Given the description of an element on the screen output the (x, y) to click on. 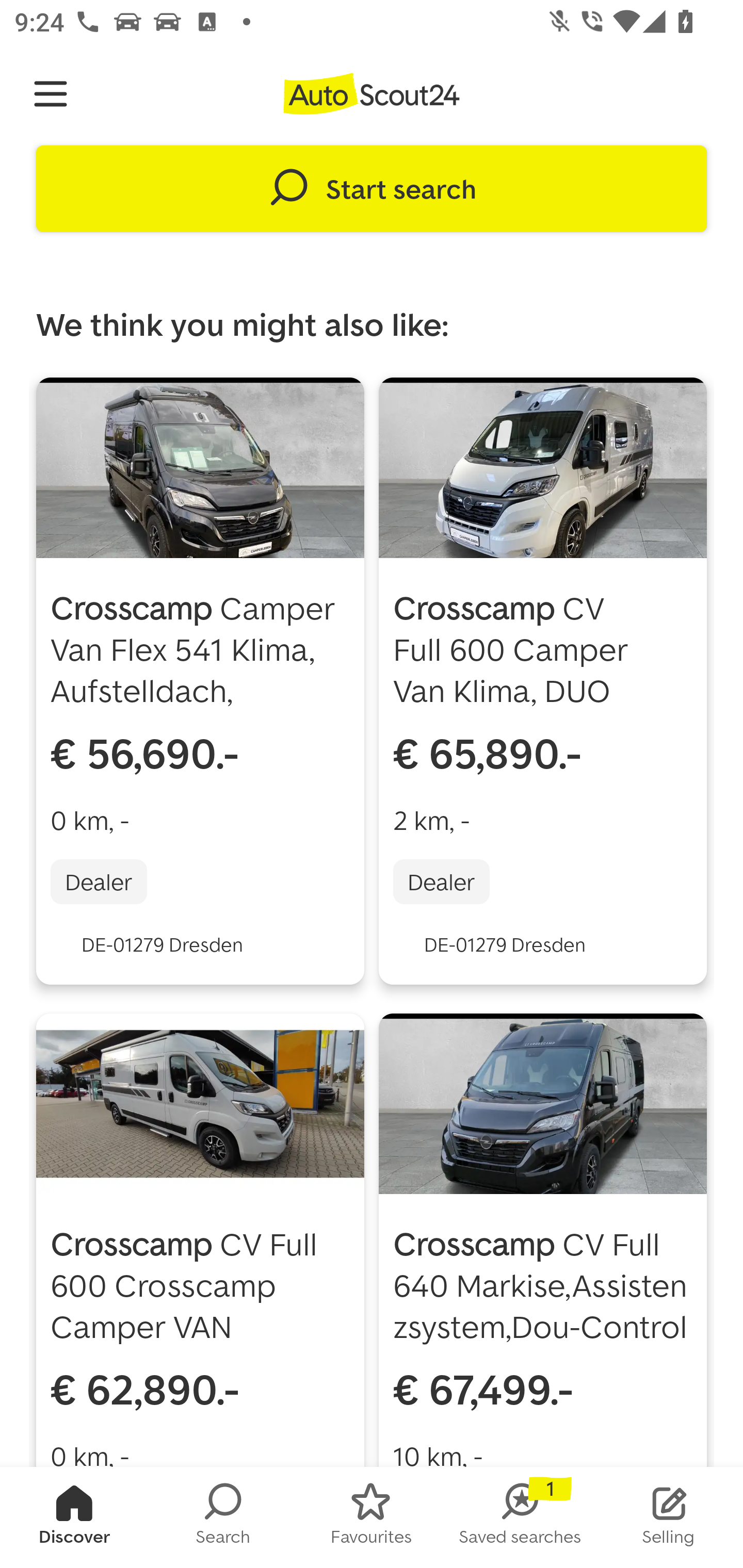
Navigate up (50, 93)
Start search (371, 188)
HOMESCREEN Discover (74, 1517)
SEARCH Search (222, 1517)
FAVORITES Favourites (371, 1517)
SAVED_SEARCHES Saved searches 1 (519, 1517)
STOCK_LIST Selling (668, 1517)
